Given the description of an element on the screen output the (x, y) to click on. 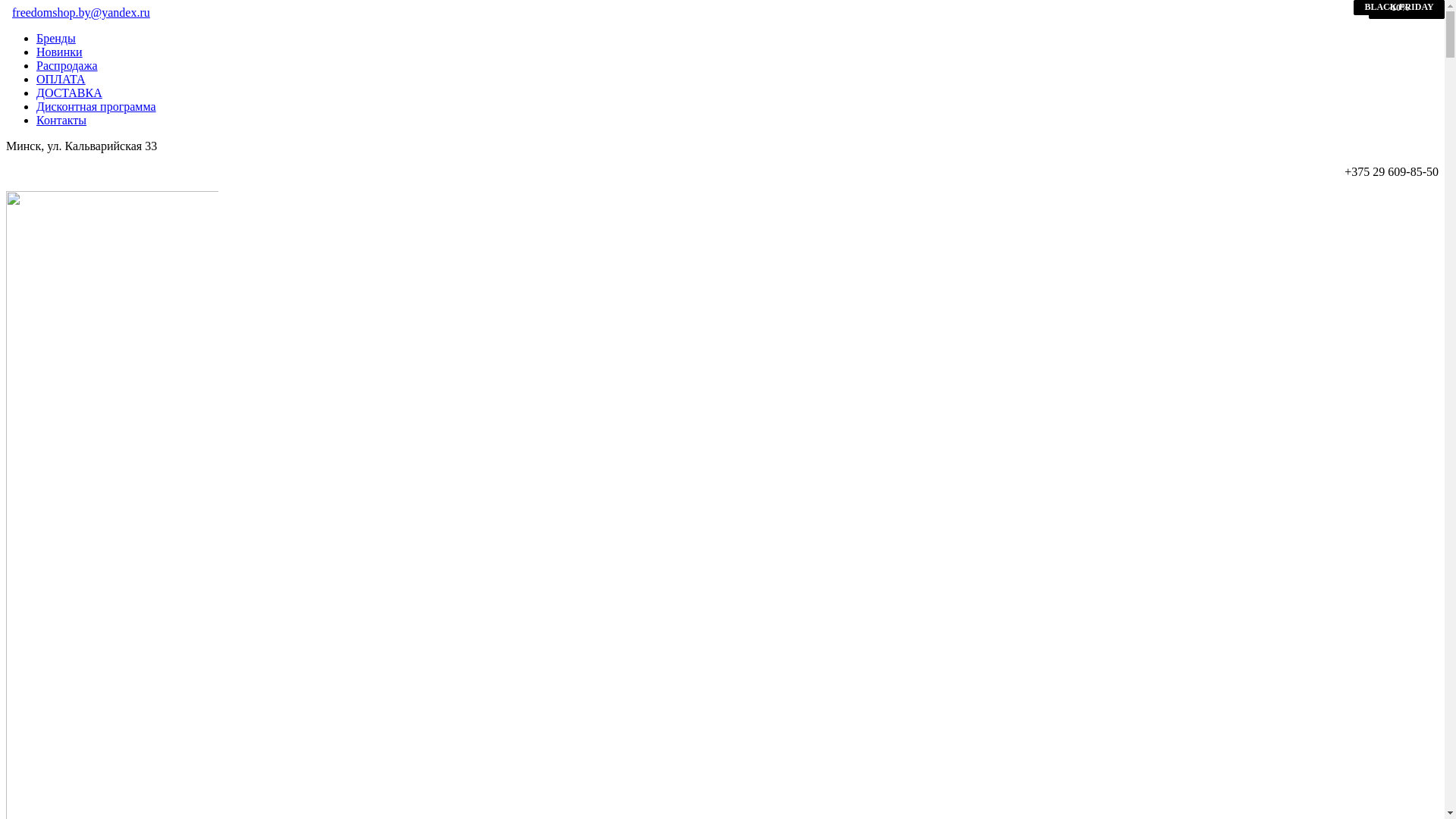
freedomshop.by@yandex.ru Element type: text (81, 12)
